Given the description of an element on the screen output the (x, y) to click on. 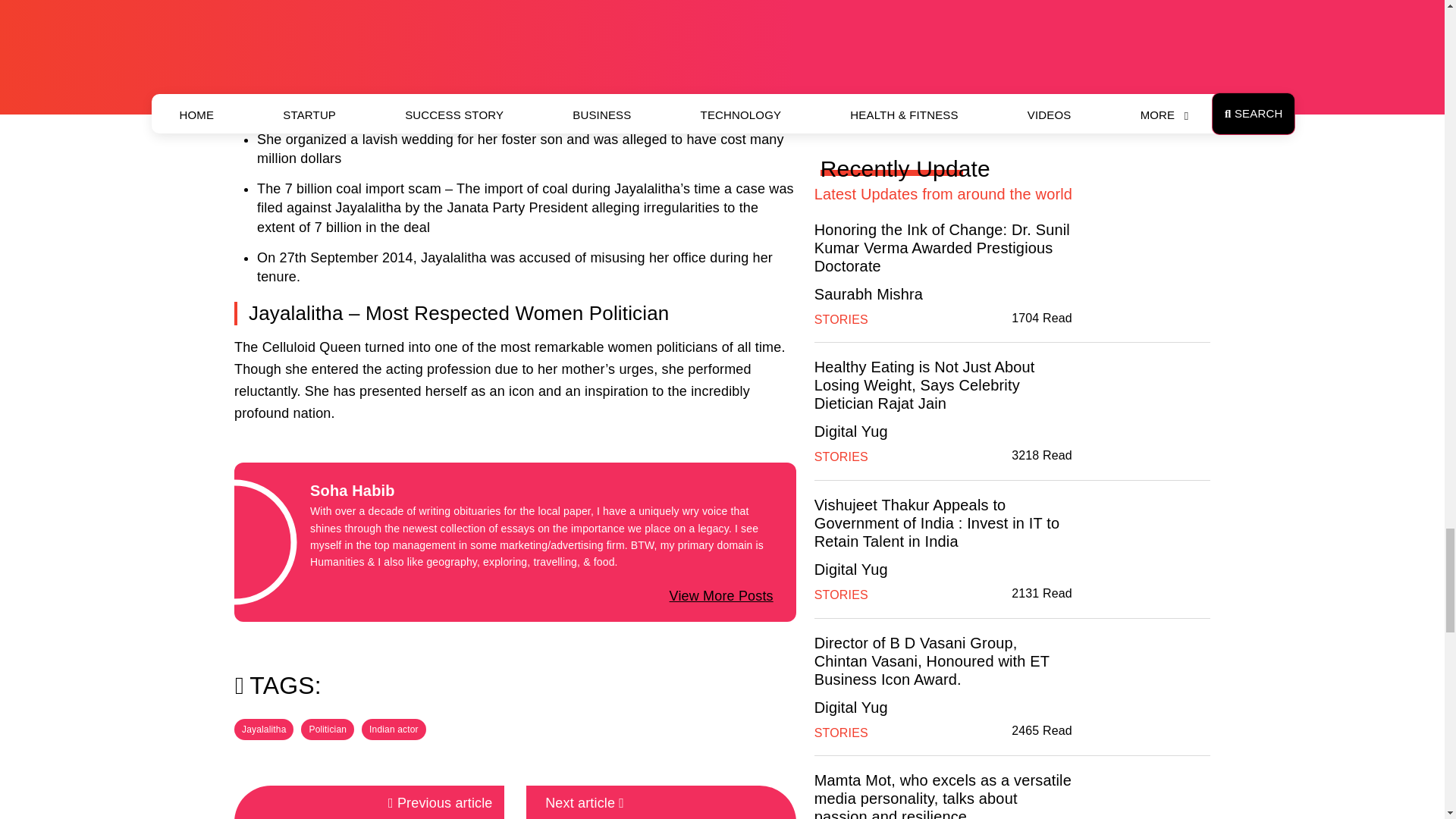
Jayalalitha (264, 729)
View More Posts (721, 596)
Soha Habib - View More Posts (721, 596)
Indian actor (393, 729)
Politician (327, 729)
